Given the description of an element on the screen output the (x, y) to click on. 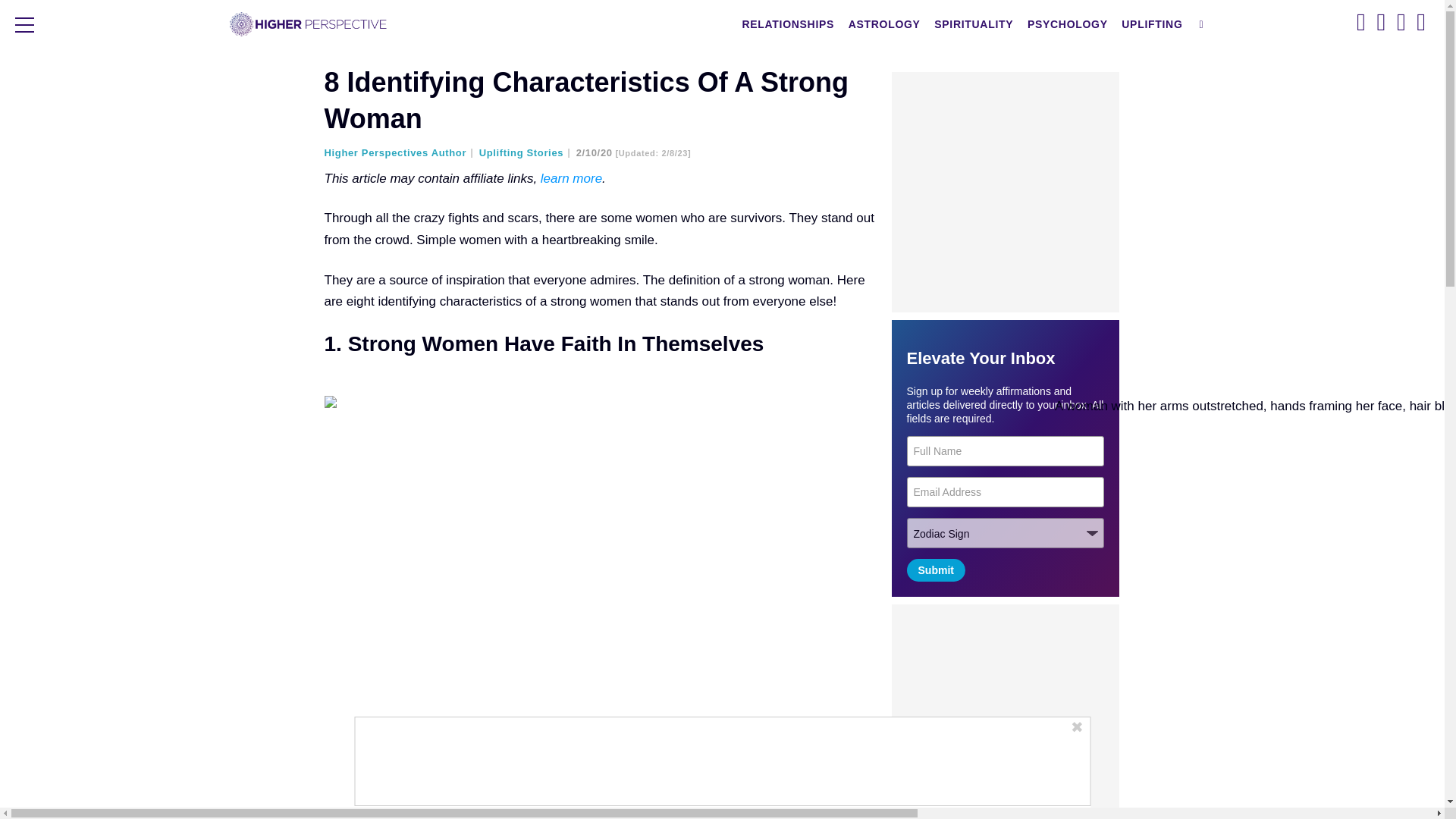
Higher Perspectives Author (400, 152)
Submit (936, 569)
PSYCHOLOGY (1067, 24)
learn more (571, 178)
SPIRITUALITY (972, 24)
UPLIFTING (1152, 24)
Uplifting Stories (526, 152)
Posts by Higher Perspectives Author (400, 152)
ASTROLOGY (884, 24)
RELATIONSHIPS (788, 24)
